Given the description of an element on the screen output the (x, y) to click on. 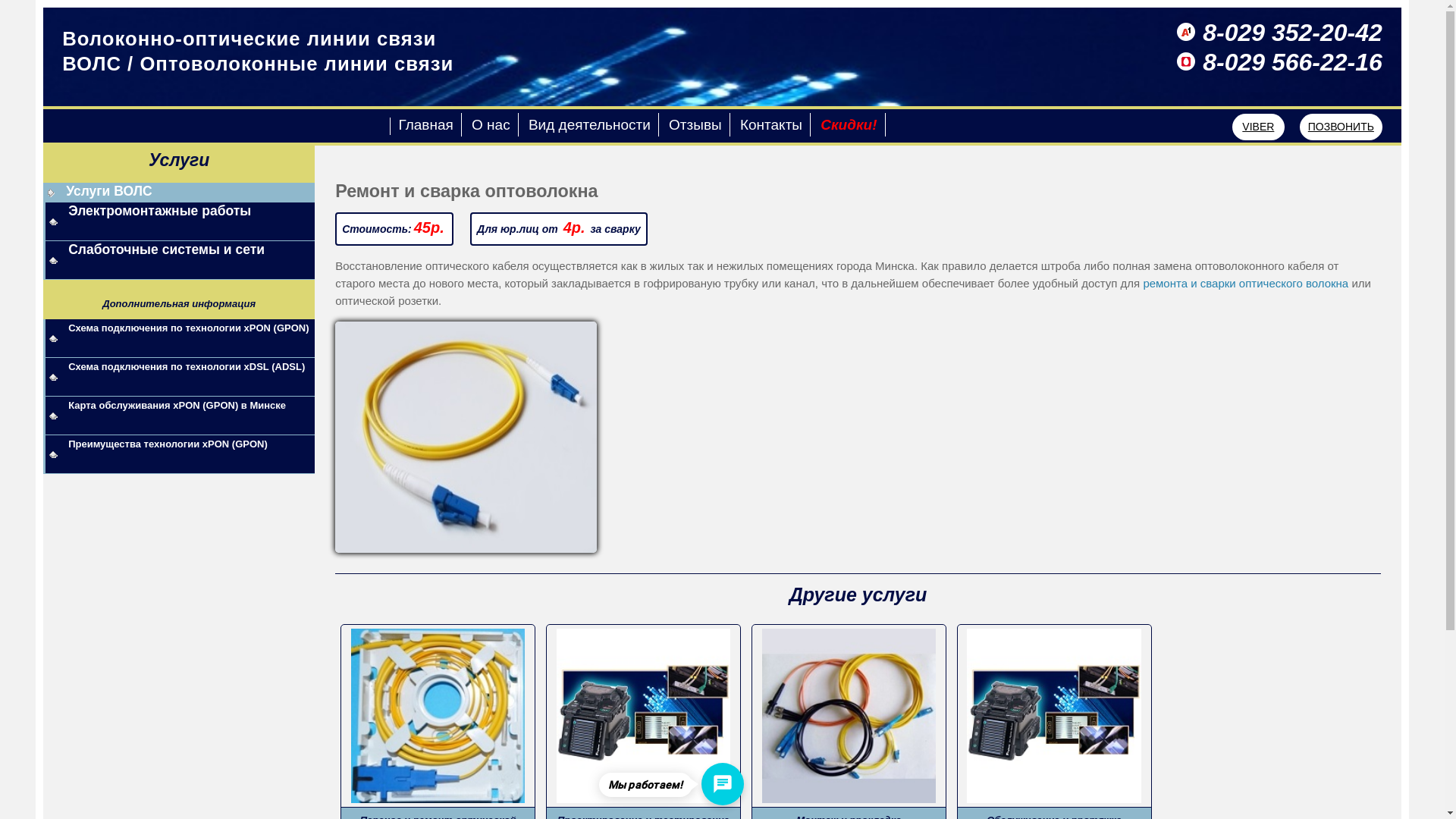
VIBER Element type: text (1258, 126)
